Given the description of an element on the screen output the (x, y) to click on. 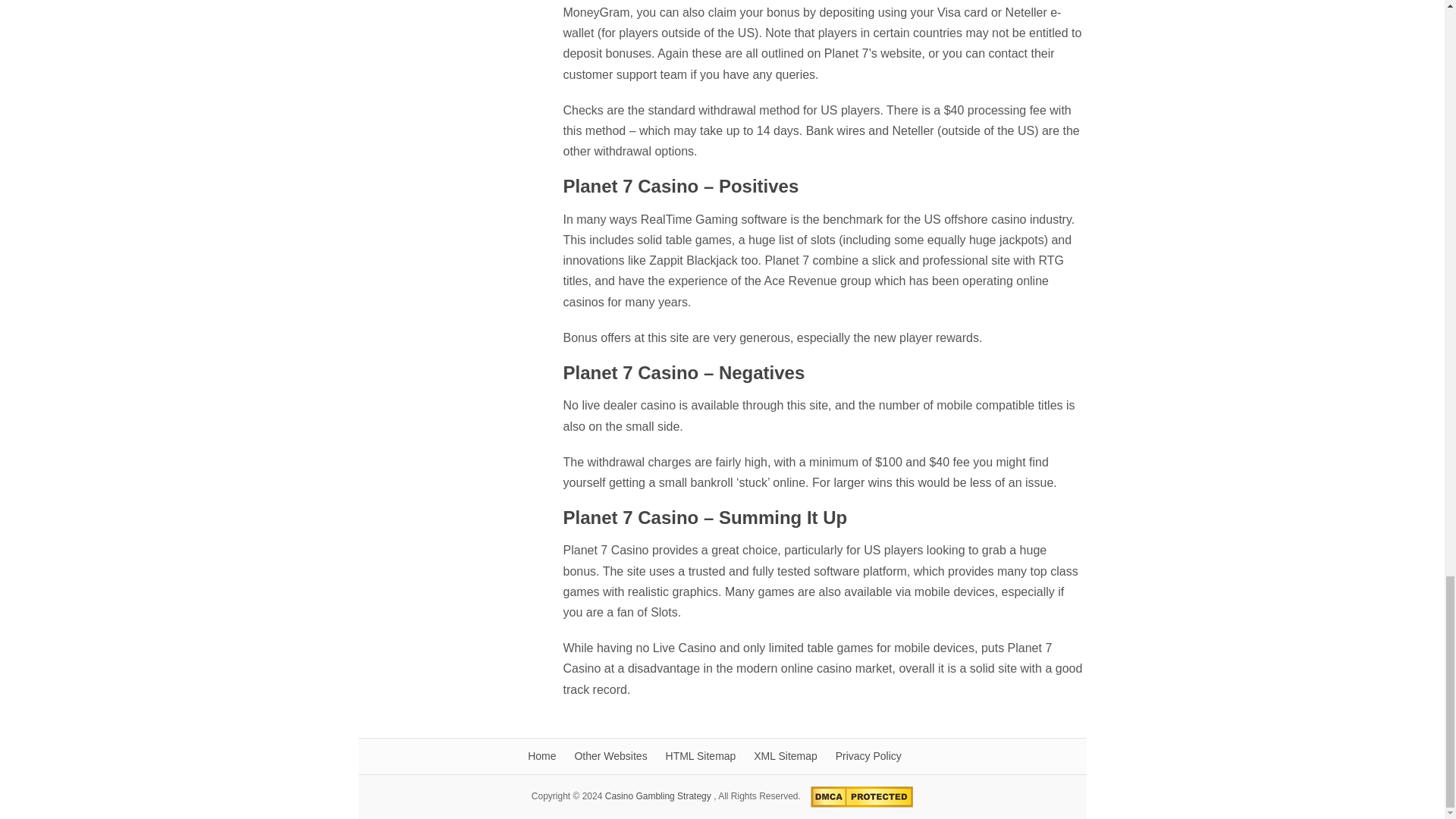
DMCA.com Protection Status (857, 796)
Other Websites (609, 756)
Home (541, 756)
